Given the description of an element on the screen output the (x, y) to click on. 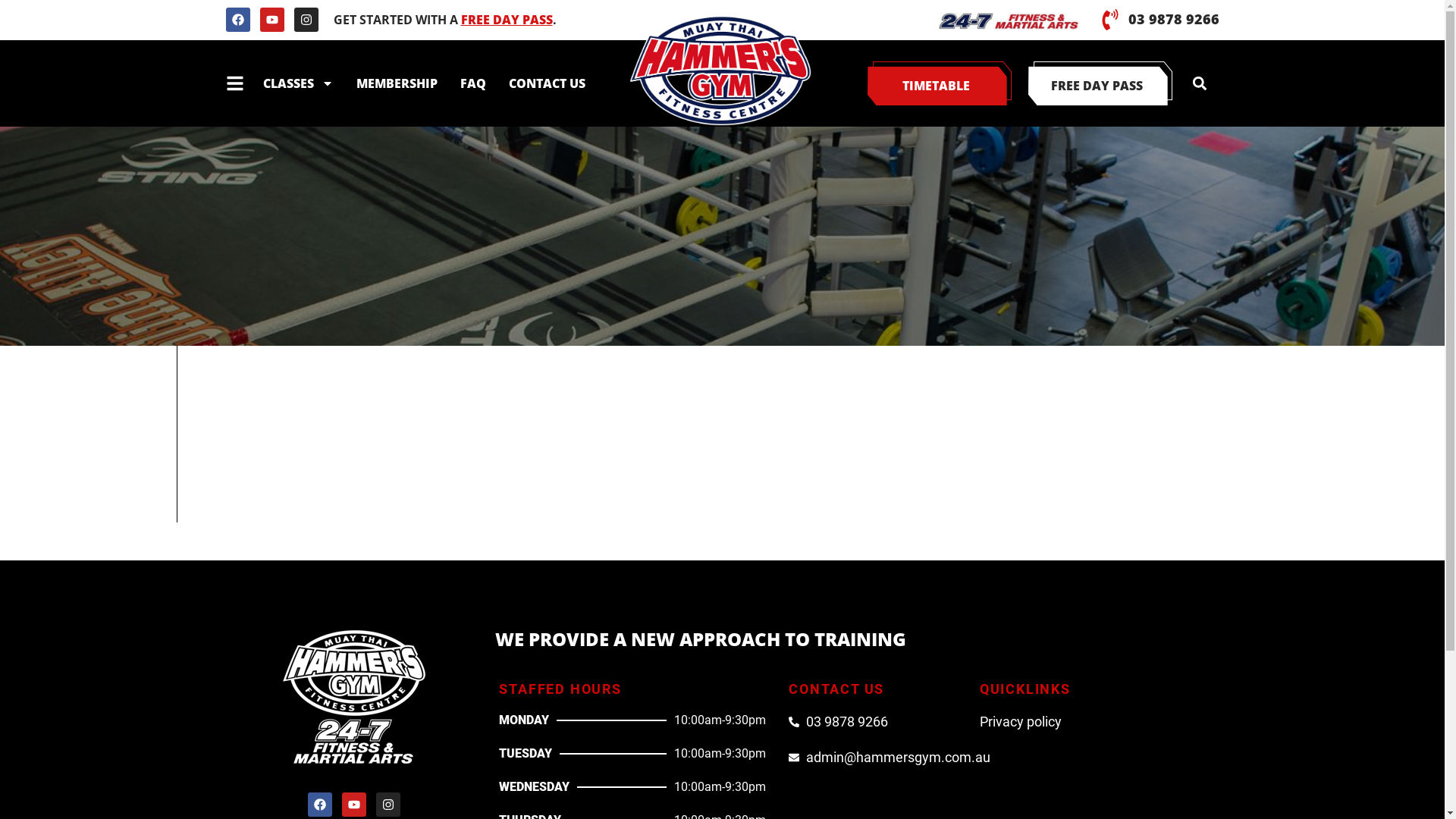
MONDAY
10:00am-9:30pm Element type: text (631, 724)
CONTACT US Element type: text (546, 82)
WEDNESDAY
10:00am-9:30pm Element type: text (631, 790)
TIMETABLE Element type: text (938, 83)
TUESDAY
10:00am-9:30pm Element type: text (631, 757)
MEMBERSHIP Element type: text (396, 82)
03 9878 9266 Element type: text (872, 721)
FREE DAY PASS Element type: text (1099, 83)
admin@hammersgym.com.au Element type: text (872, 756)
03 9878 9266 Element type: text (1173, 18)
CLASSES Element type: text (298, 82)
GET STARTED WITH A FREE DAY PASS. Element type: text (444, 19)
Privacy policy Element type: text (1085, 721)
FAQ Element type: text (472, 82)
